Given the description of an element on the screen output the (x, y) to click on. 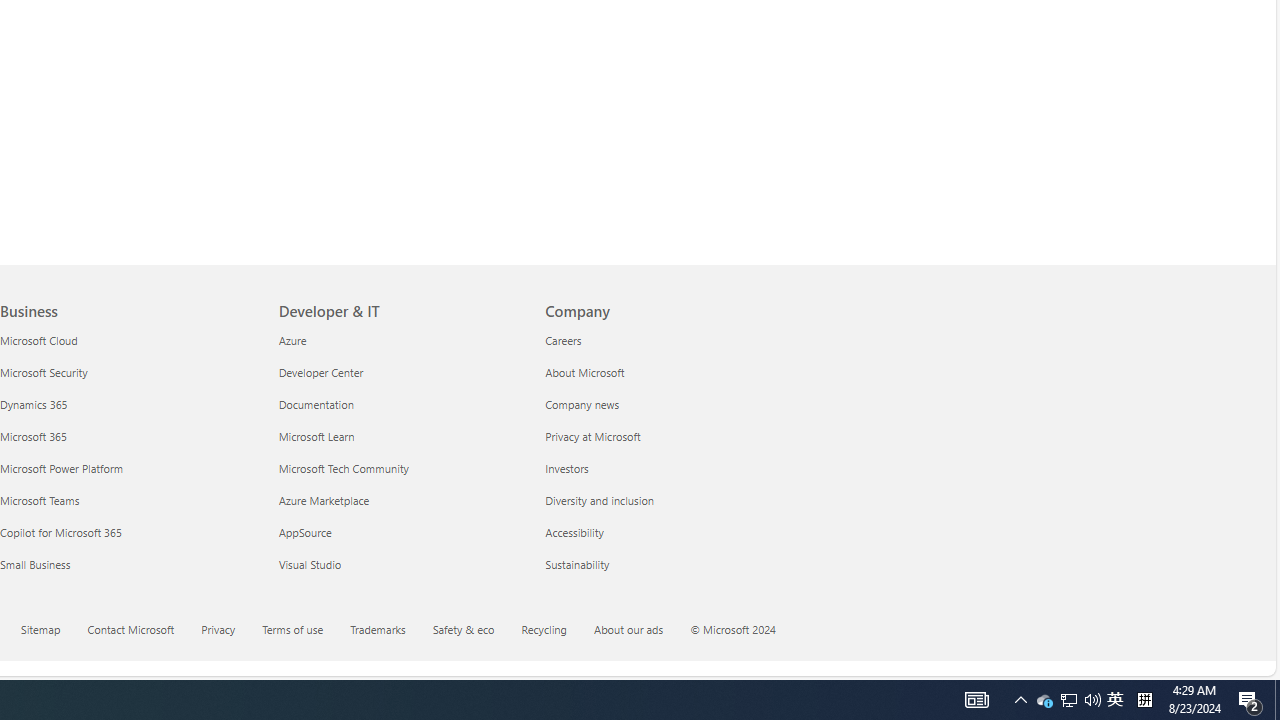
Safety & eco (475, 631)
Azure Marketplace Developer & IT (323, 499)
Contact Microsoft (131, 628)
Sustainability (666, 564)
Diversity and inclusion (666, 499)
Trademarks (377, 628)
Accessibility Company (574, 532)
AppSource (399, 532)
Contact Microsoft (142, 631)
Terms of use (305, 631)
Microsoft Tech Community Developer & IT (343, 467)
About Microsoft (666, 371)
Company news (666, 404)
Recycling (544, 628)
